Given the description of an element on the screen output the (x, y) to click on. 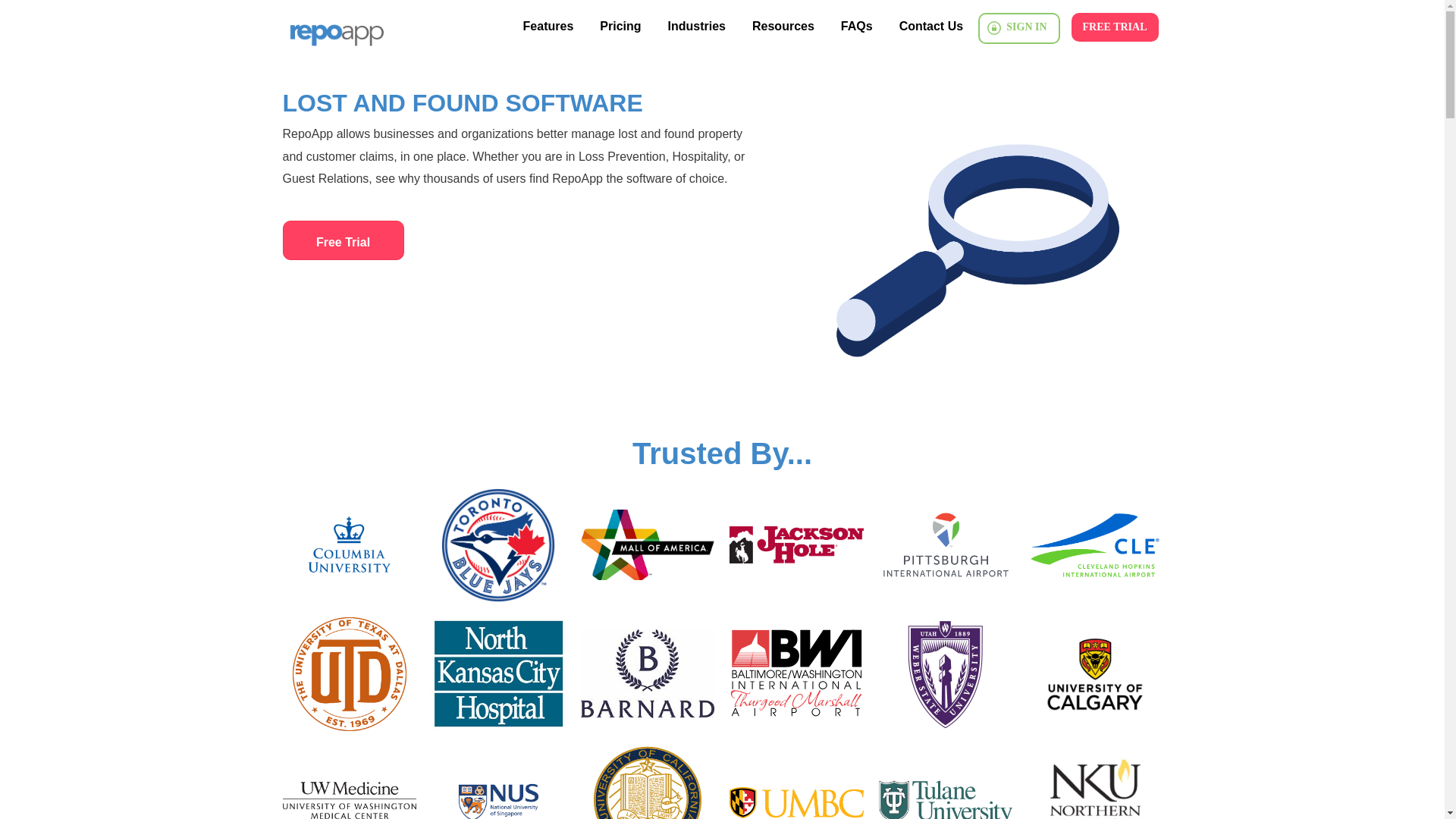
ut-dallas (349, 674)
FAQs (856, 27)
jackson-hole-logo (796, 544)
mall-of-america-logo (647, 544)
Pricing (620, 27)
barnard-logo (647, 674)
nus-logo (498, 782)
jays-logo (498, 544)
FREE TRIAL (1114, 27)
university-of-calgary-logo (1094, 674)
Resources (783, 27)
repoapplogo (335, 30)
nkch-logo (498, 674)
Contact Us (931, 27)
uw-medical-center-logo (349, 782)
